Given the description of an element on the screen output the (x, y) to click on. 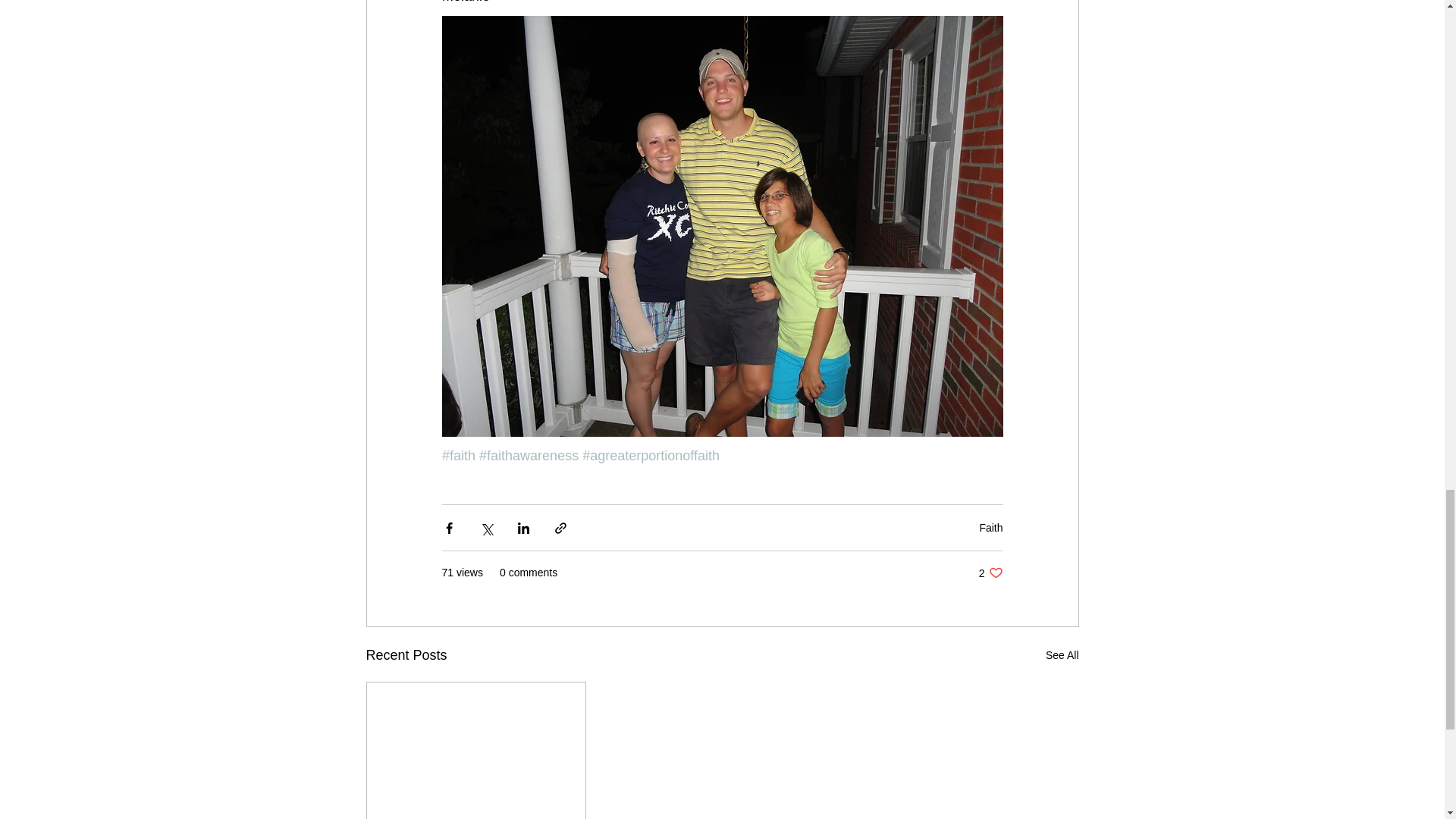
See All (1061, 655)
Faith (990, 527)
